Given the description of an element on the screen output the (x, y) to click on. 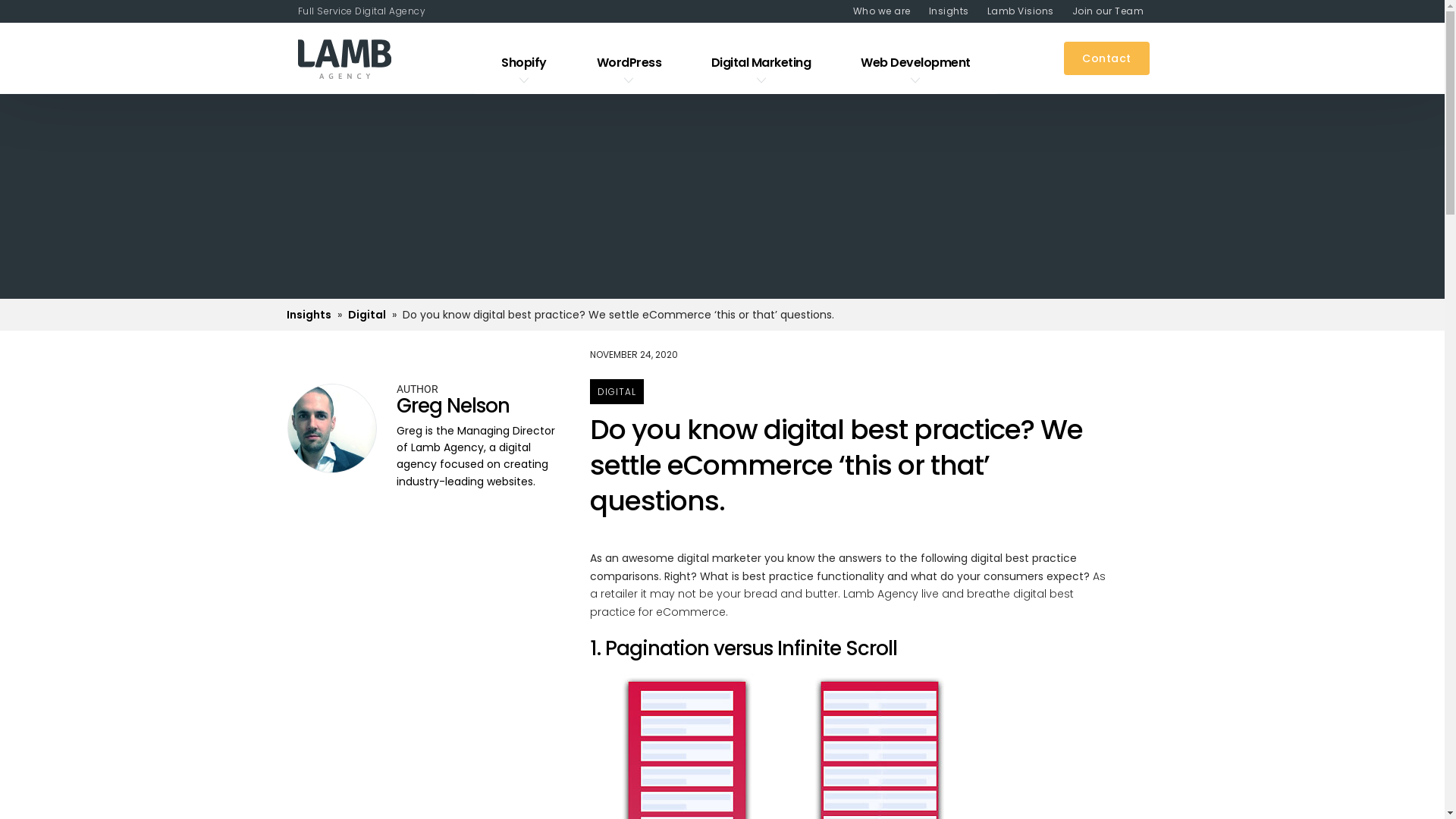
Contact Element type: text (1106, 58)
Web Development Element type: text (915, 59)
Insights Element type: text (308, 314)
Digital Element type: text (366, 314)
Lamb Agency Element type: hover (343, 61)
Digital Marketing Element type: text (760, 59)
Who we are Element type: text (873, 10)
DIGITAL Element type: text (616, 391)
Join our Team Element type: text (1100, 10)
Shopify Element type: text (523, 59)
Lamb Visions Element type: text (1013, 10)
Insights Element type: text (941, 10)
WordPress Element type: text (629, 59)
